Given the description of an element on the screen output the (x, y) to click on. 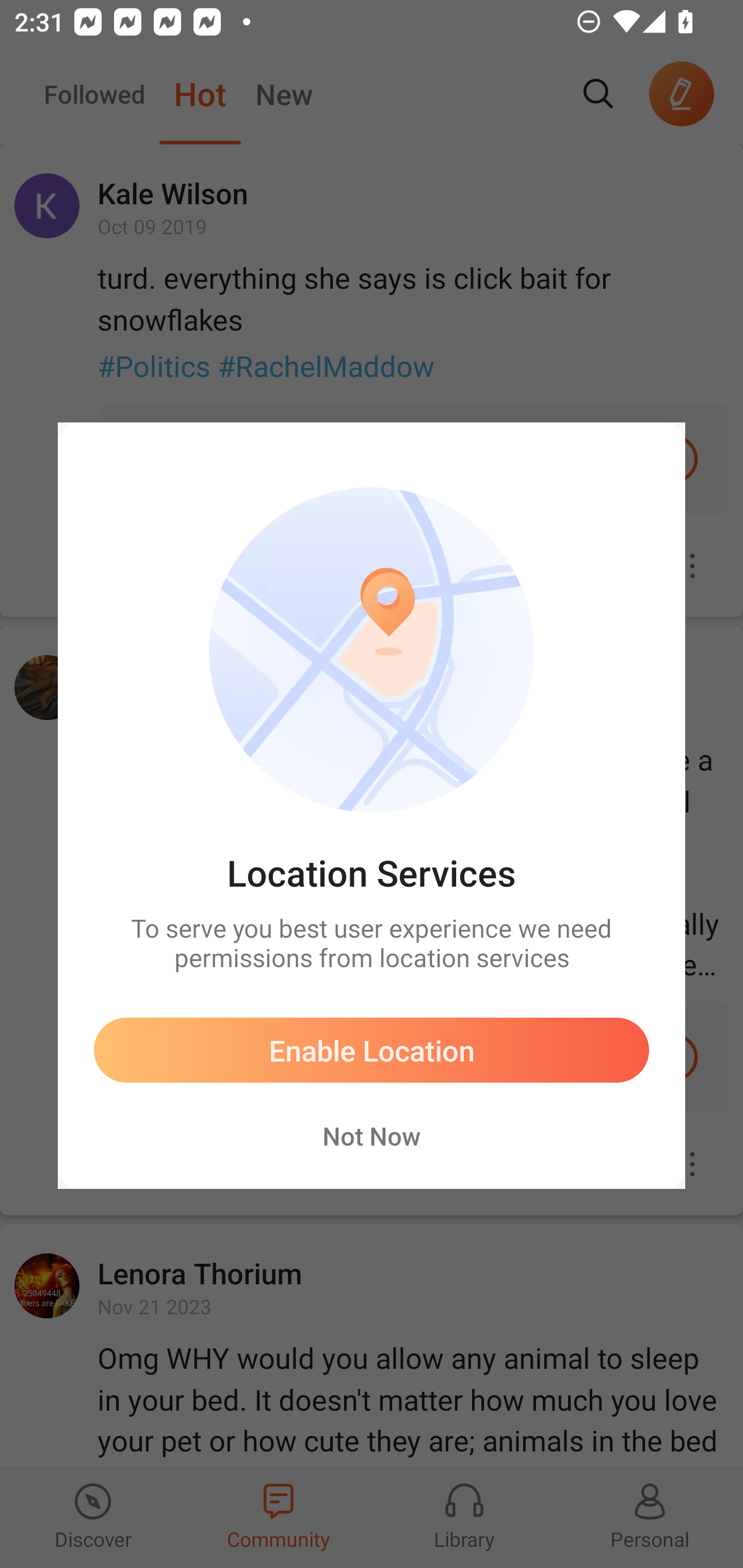
Enable Location (371, 1049)
Not Now (371, 1134)
